Given the description of an element on the screen output the (x, y) to click on. 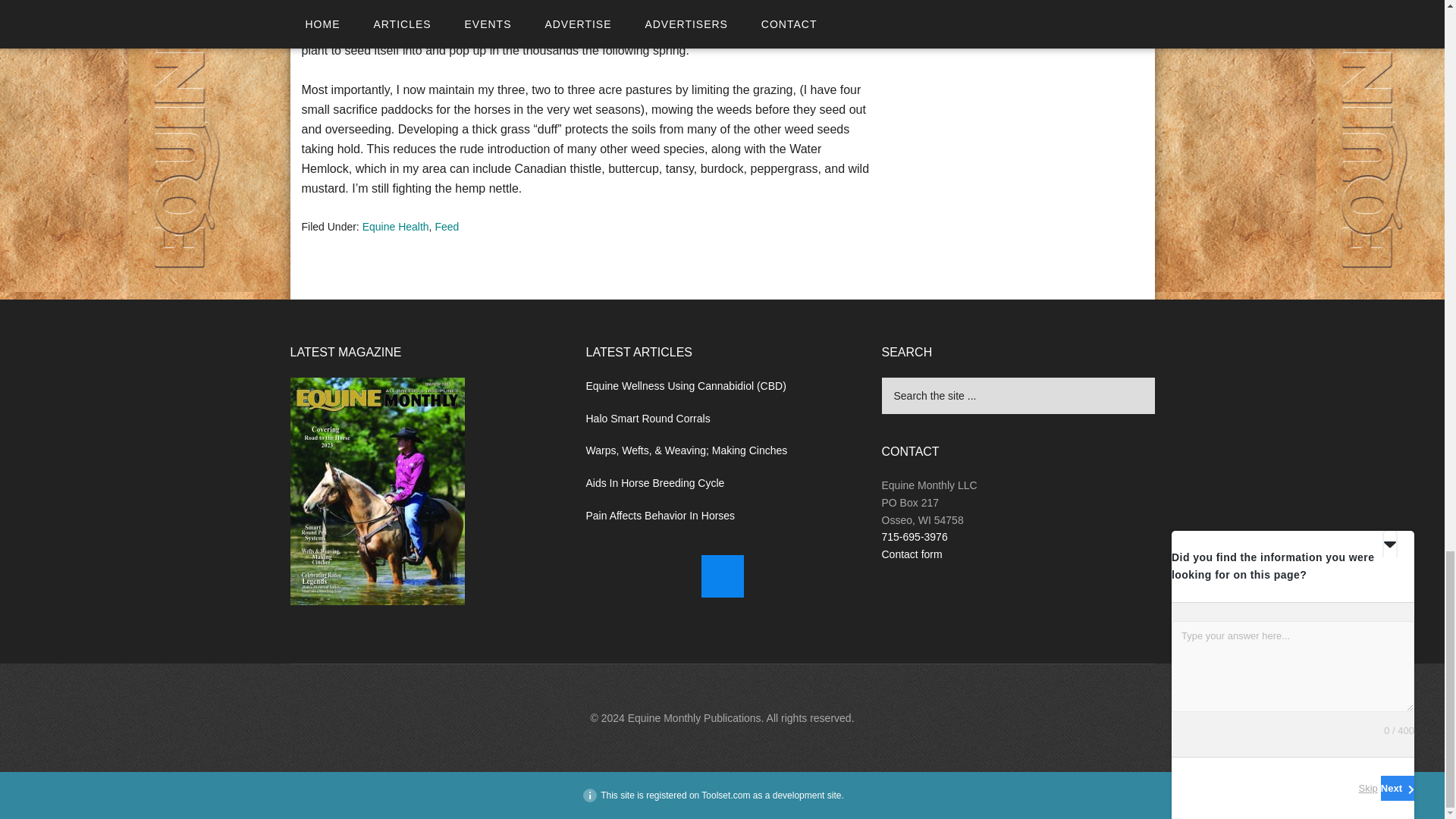
Aids In Horse Breeding Cycle (654, 482)
Equine Health (395, 226)
715-695-3976 (913, 536)
Feed (445, 226)
Pain Affects Behavior In Horses (660, 515)
Contact form (911, 553)
Halo Smart Round Corrals (647, 418)
